Given the description of an element on the screen output the (x, y) to click on. 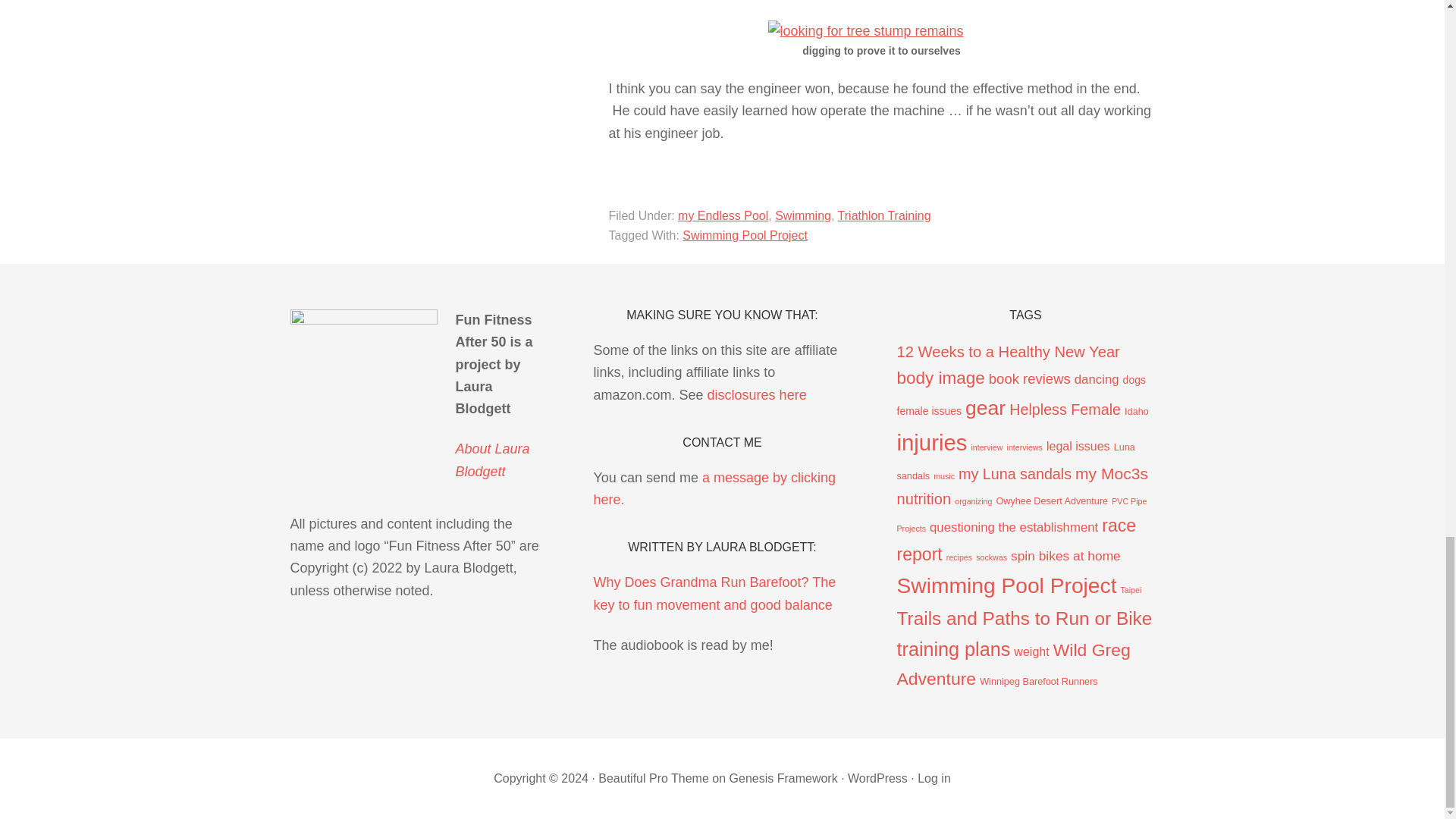
my Endless Pool (723, 215)
Triathlon Training (884, 215)
Swimming Pool Project (745, 235)
Swimming (802, 215)
checking the work (864, 31)
